Given the description of an element on the screen output the (x, y) to click on. 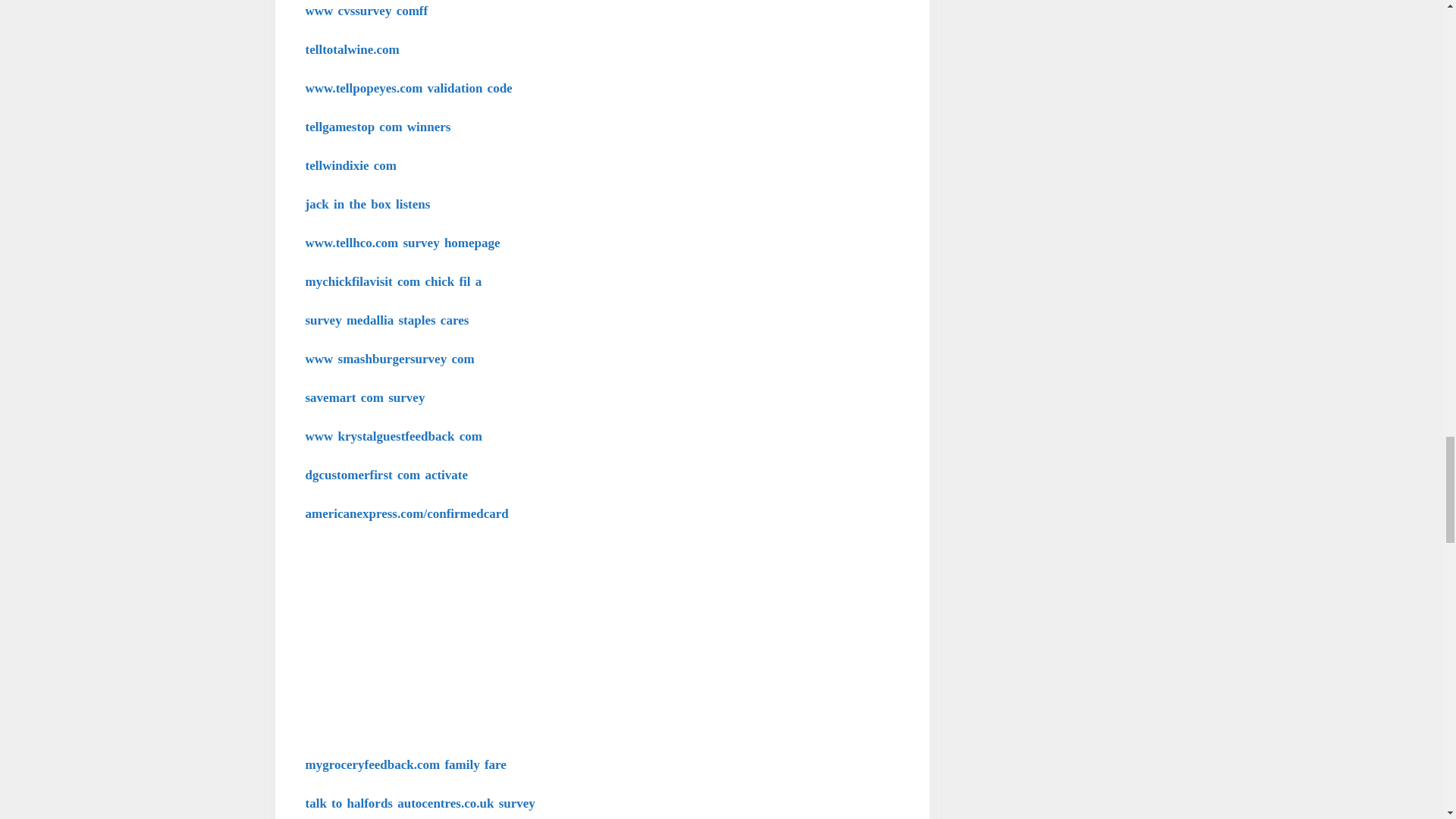
survey medallia staples cares (386, 319)
www smashburgersurvey com (389, 359)
tellwindixie com (350, 165)
www krystalguestfeedback com (392, 436)
dgcustomerfirst com activate (385, 474)
www cvssurvey comff (366, 11)
talk to halfords autocentres.co.uk survey (419, 803)
www.tellpopeyes.com validation code (408, 88)
jack in the box listens (366, 204)
www.tellhco.com survey homepage (401, 242)
